Given the description of an element on the screen output the (x, y) to click on. 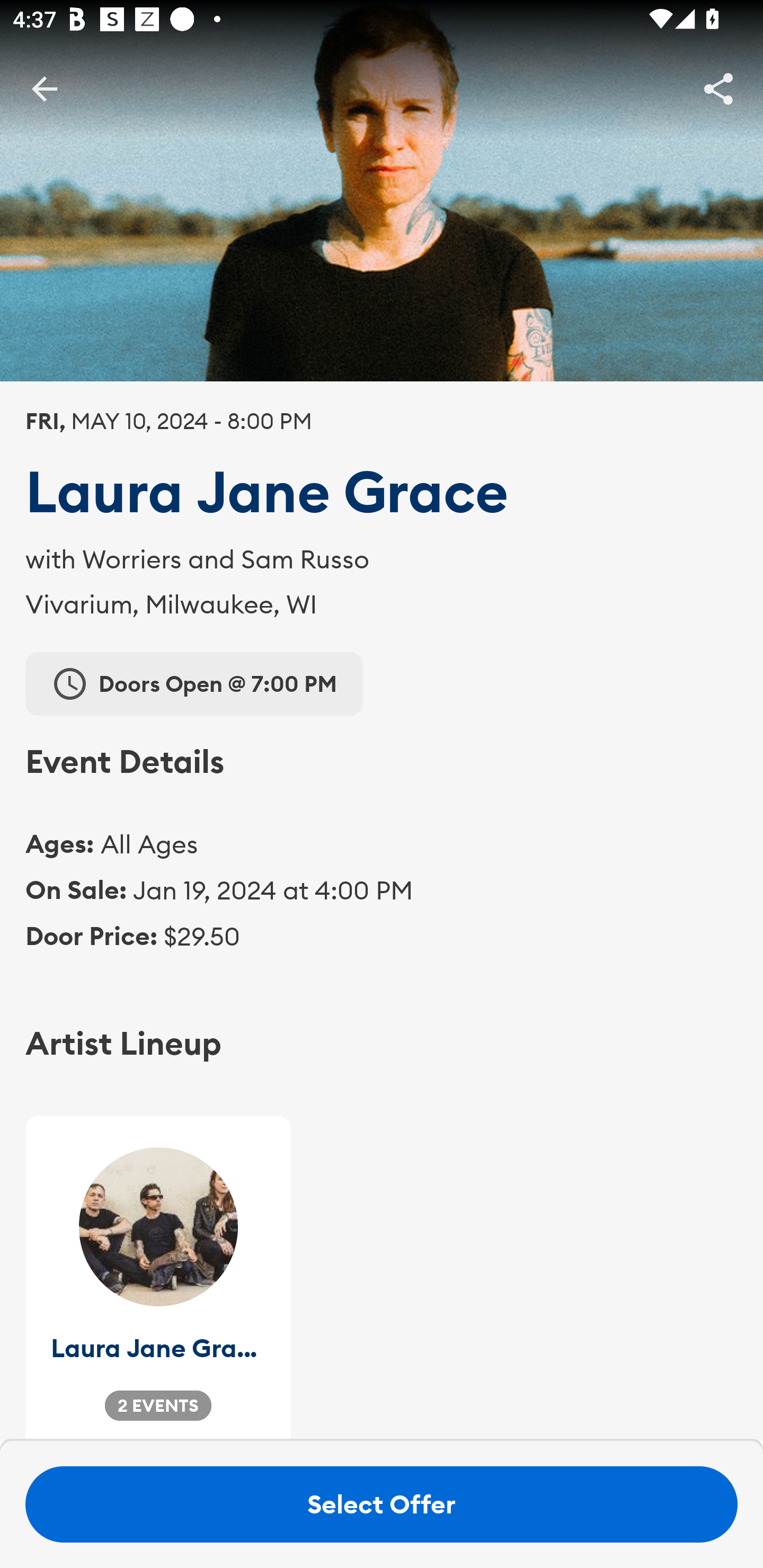
BackButton (44, 88)
Share (718, 88)
Laura Jane Grace 2 EVENTS (157, 1277)
Select Offer (381, 1504)
